Given the description of an element on the screen output the (x, y) to click on. 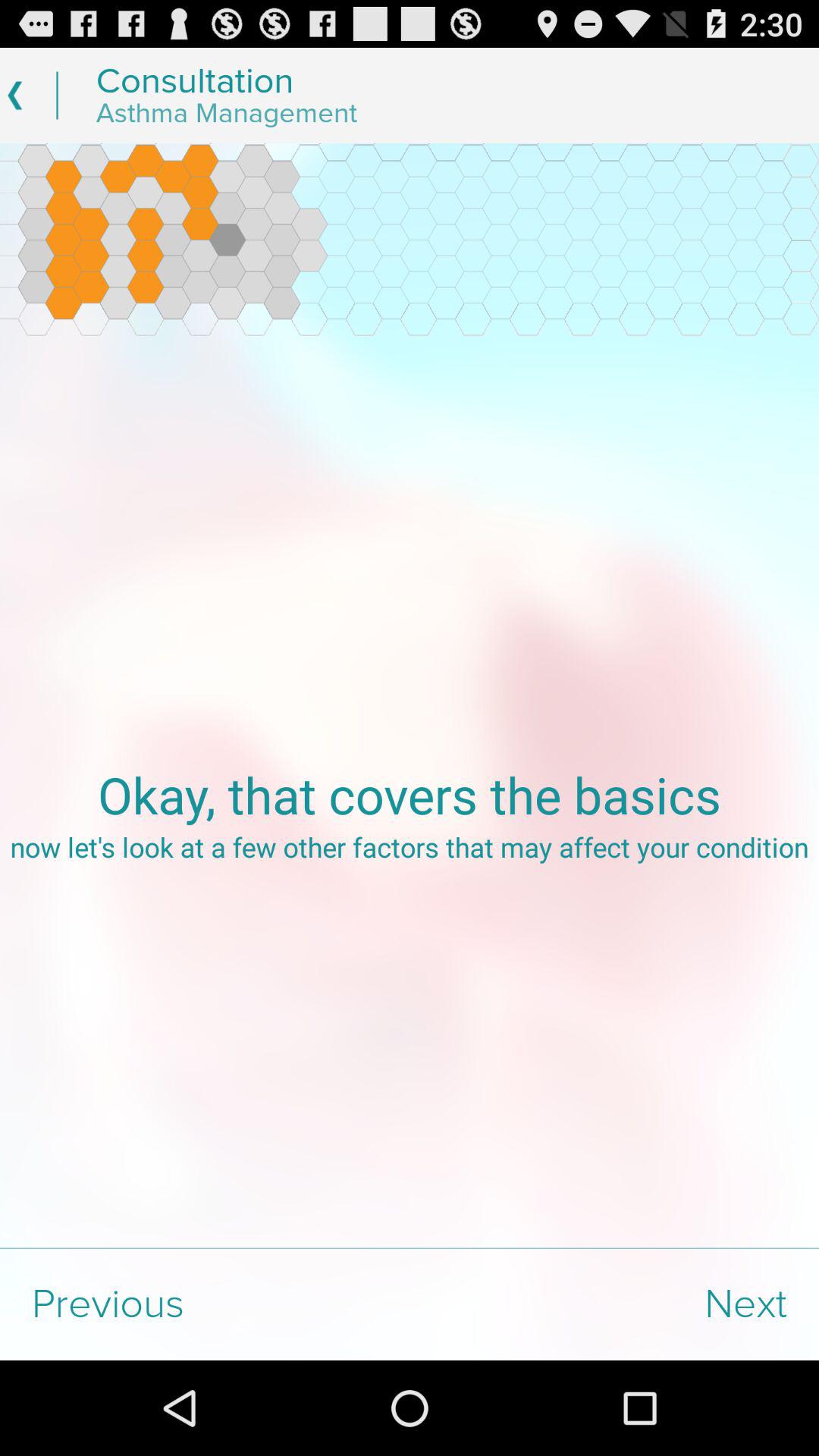
open the item to the right of the previous item (614, 1304)
